Given the description of an element on the screen output the (x, y) to click on. 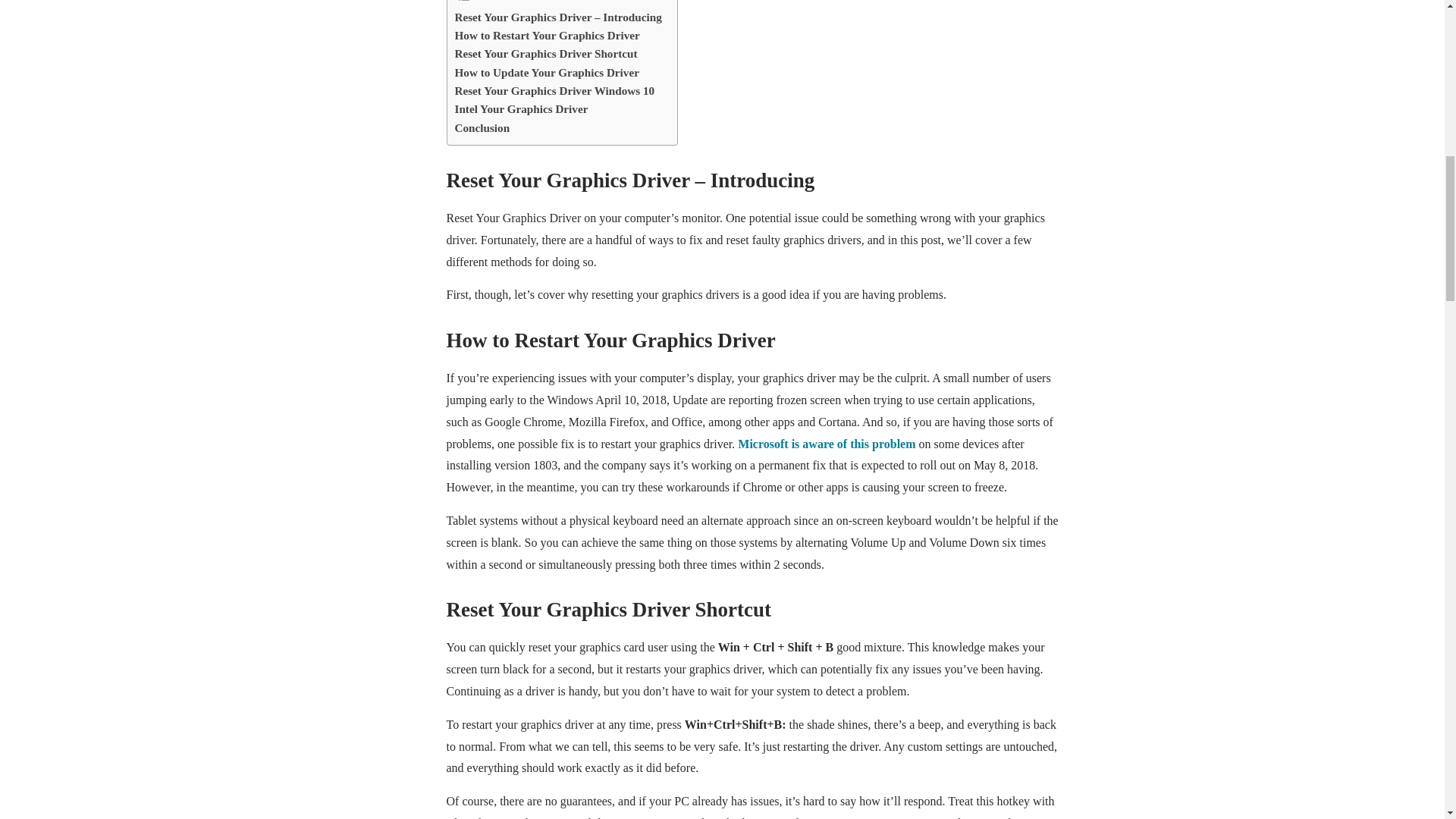
Reset Your Graphics Driver Shortcut (545, 54)
Intel Your Graphics Driver (521, 108)
Reset Your Graphics Driver Windows 10 (554, 90)
Reset Your Graphics Driver Shortcut (545, 54)
How to Restart Your Graphics Driver (547, 35)
How to Update Your Graphics Driver (546, 72)
How to Restart Your Graphics Driver (547, 35)
Conclusion (482, 127)
Conclusion (482, 127)
How to Update Your Graphics Driver (546, 72)
Intel Your Graphics Driver (521, 108)
Reset Your Graphics Driver Windows 10 (554, 90)
